Given the description of an element on the screen output the (x, y) to click on. 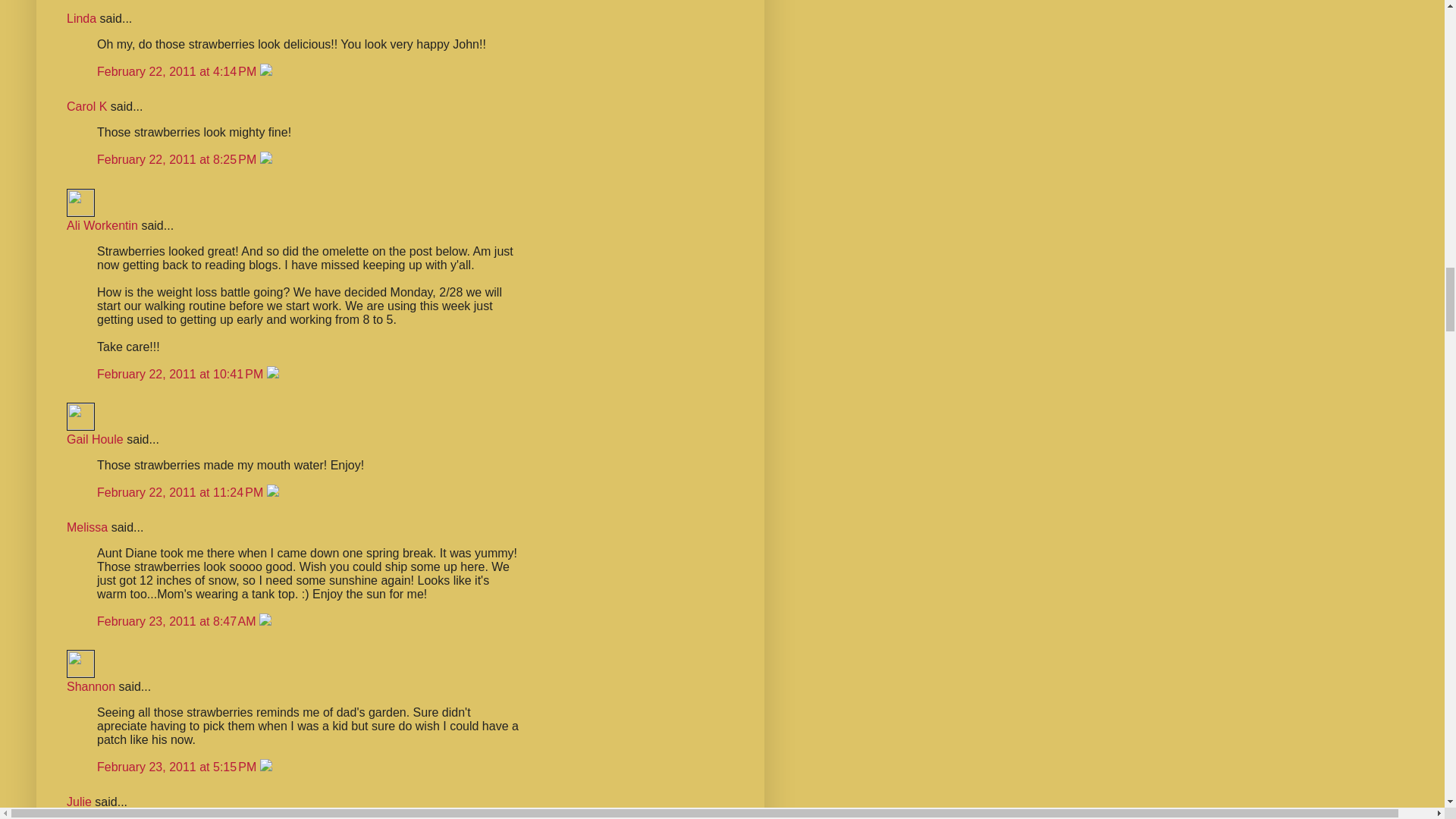
comment permalink (178, 71)
Gail Houle (80, 416)
Linda (81, 18)
Delete Comment (272, 373)
Gail Houle (94, 439)
Carol K (86, 106)
Delete Comment (266, 159)
comment permalink (178, 159)
Ali Workentin (102, 225)
comment permalink (181, 373)
Delete Comment (266, 71)
